Given the description of an element on the screen output the (x, y) to click on. 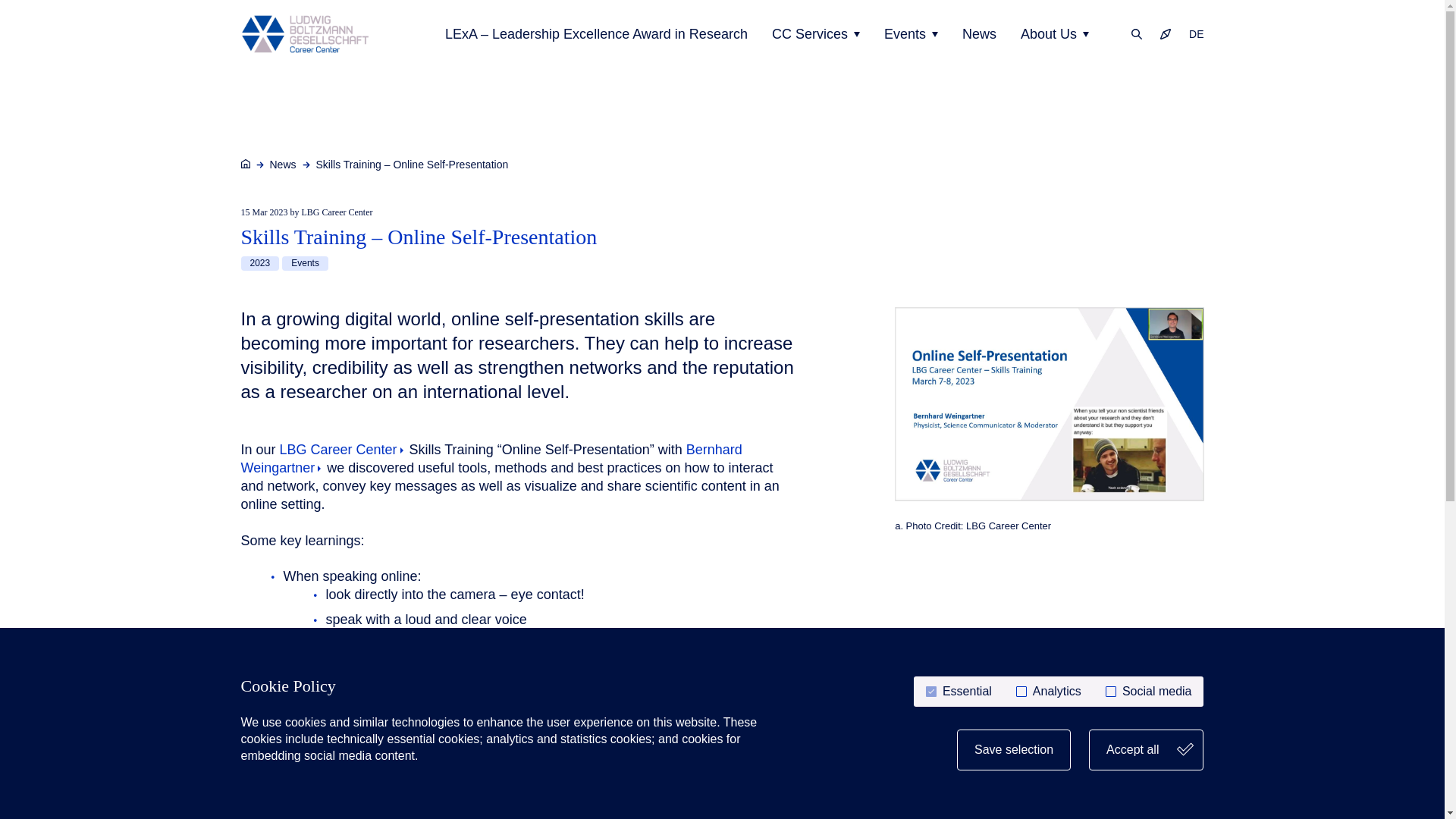
Events (305, 263)
LBG Career Center (342, 449)
Events (910, 34)
News (283, 163)
DE (1191, 33)
2023 (260, 263)
CC Services (815, 34)
a. (1049, 404)
Bernhard Weingartner (491, 458)
About Us (1054, 34)
